Given the description of an element on the screen output the (x, y) to click on. 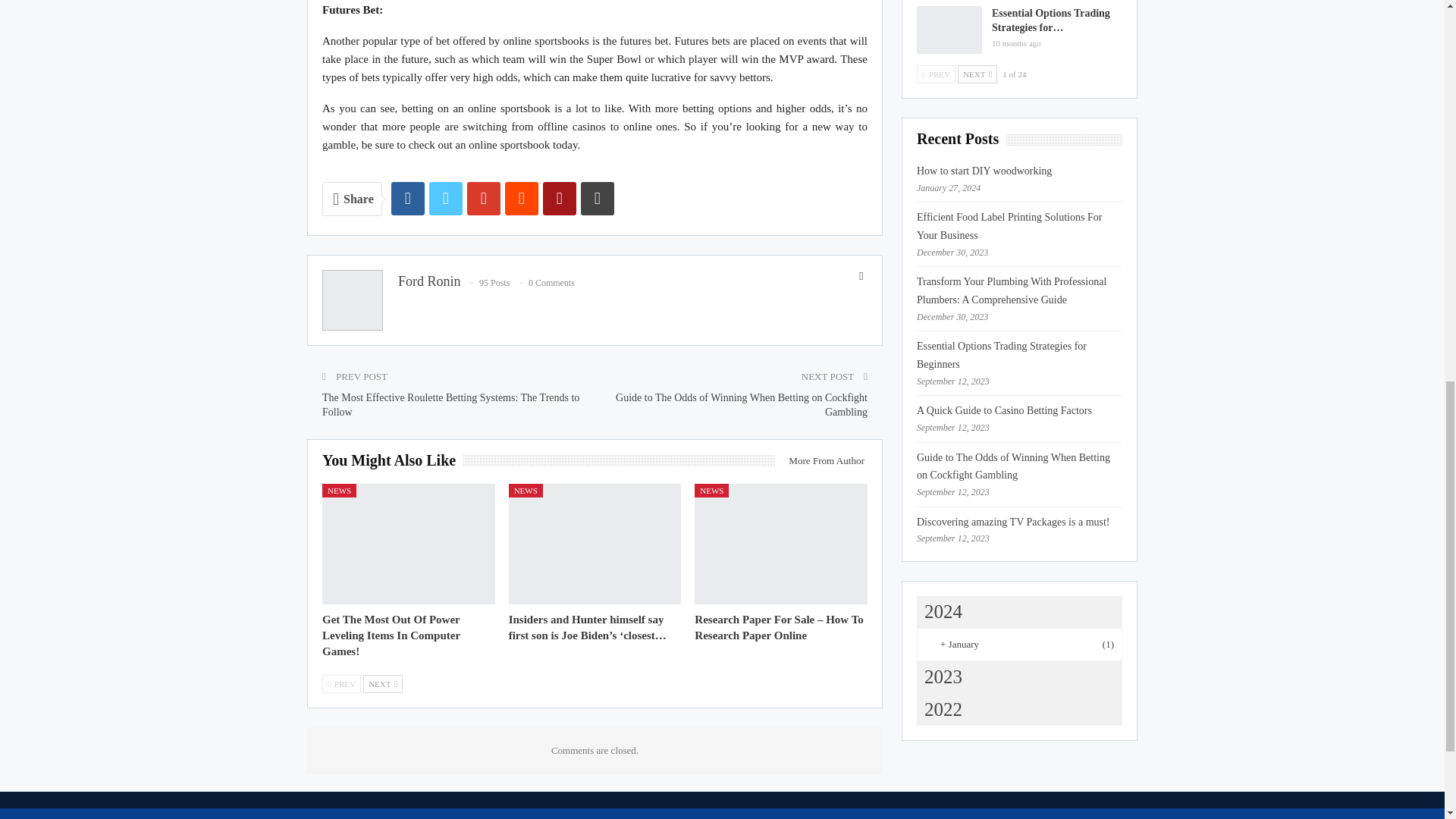
Previous (341, 683)
Next (382, 683)
Get The Most Out Of Power Leveling Items In Computer Games! (390, 635)
Get The Most Out Of Power Leveling Items In Computer Games! (408, 544)
